Given the description of an element on the screen output the (x, y) to click on. 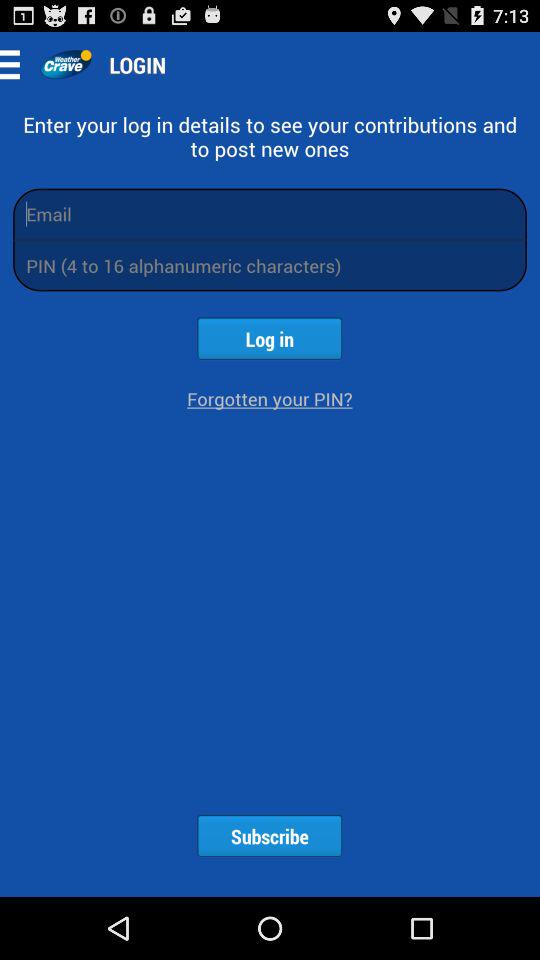
see menu (16, 63)
